Given the description of an element on the screen output the (x, y) to click on. 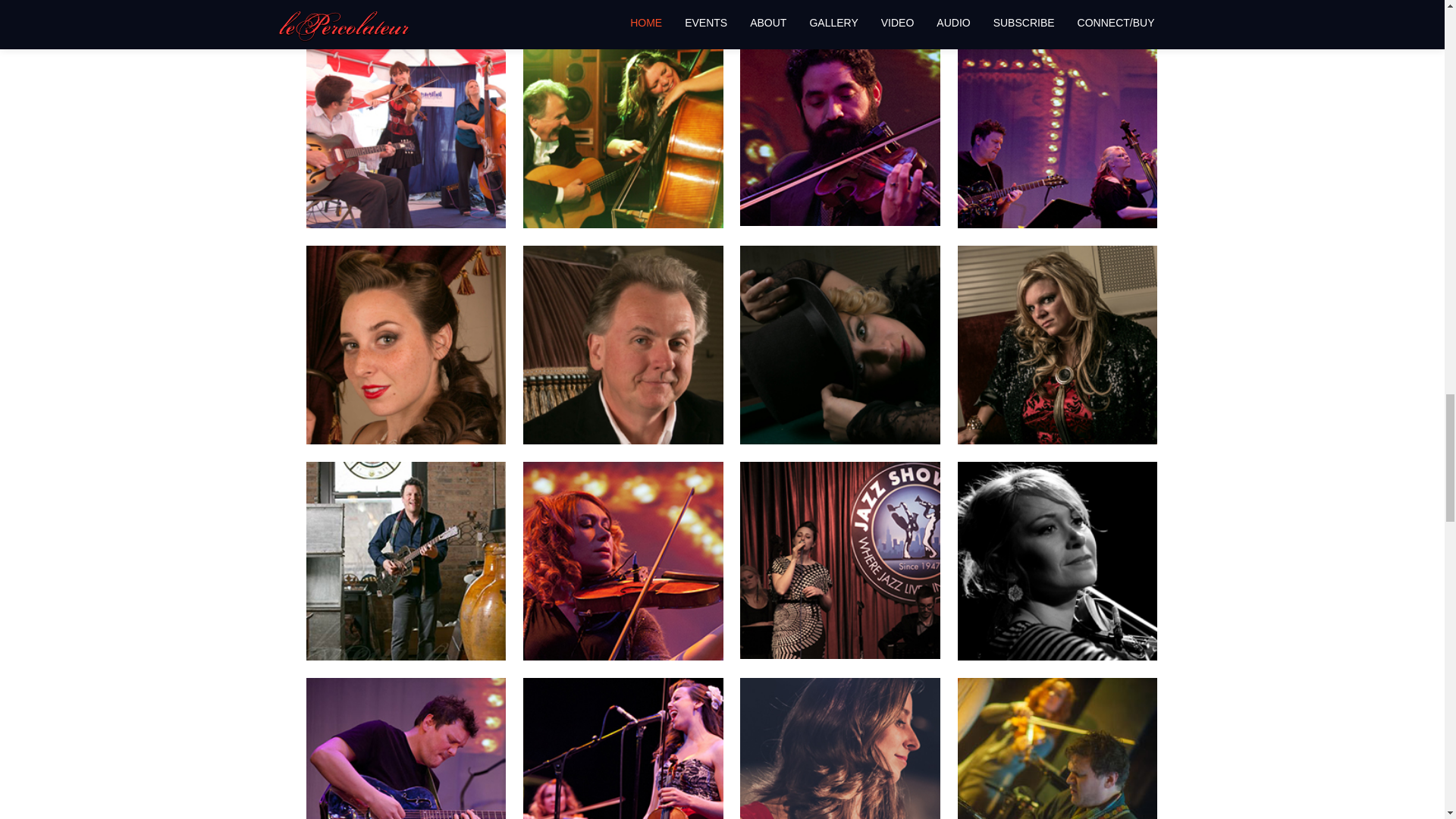
Felipe (839, 126)
